Given the description of an element on the screen output the (x, y) to click on. 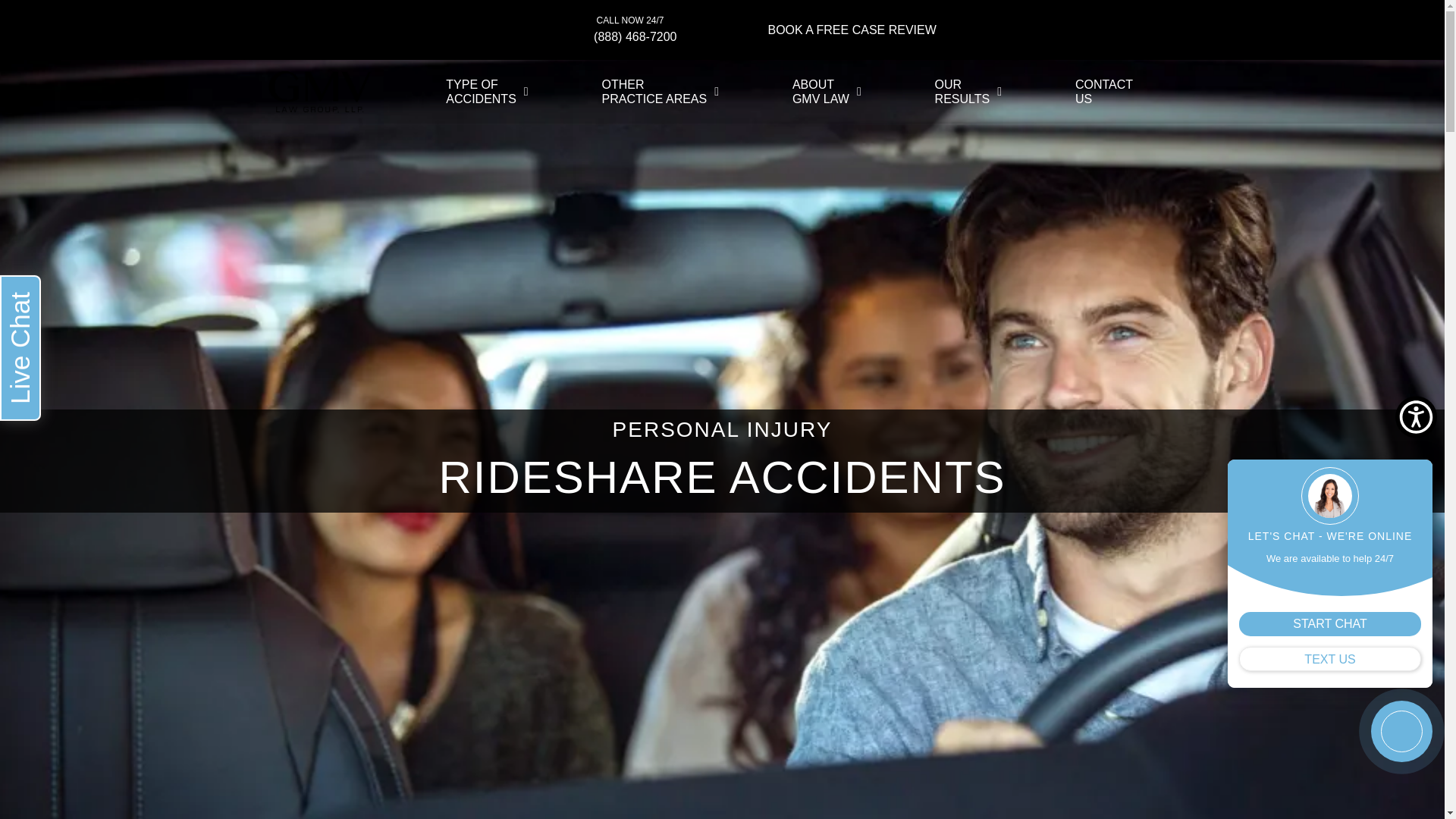
BOOK A FREE CASE REVIEW (851, 29)
